Given the description of an element on the screen output the (x, y) to click on. 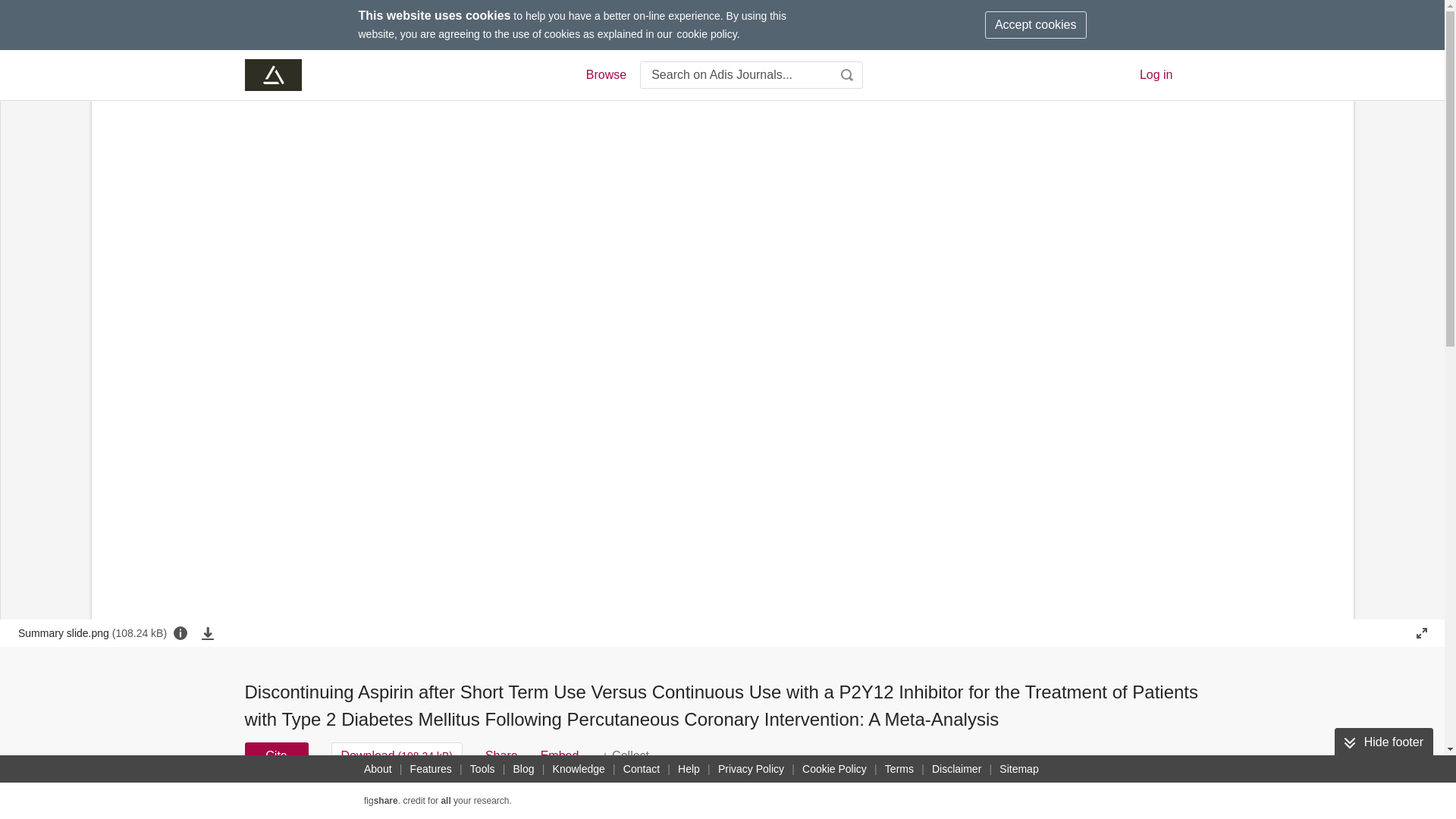
you need to log in first (625, 755)
cookie policy (706, 33)
Browse (605, 75)
Cite (275, 755)
Embed (559, 755)
Summary slide.png (92, 633)
Log in (1156, 74)
Accept cookies (1035, 24)
Share (501, 755)
